Given the description of an element on the screen output the (x, y) to click on. 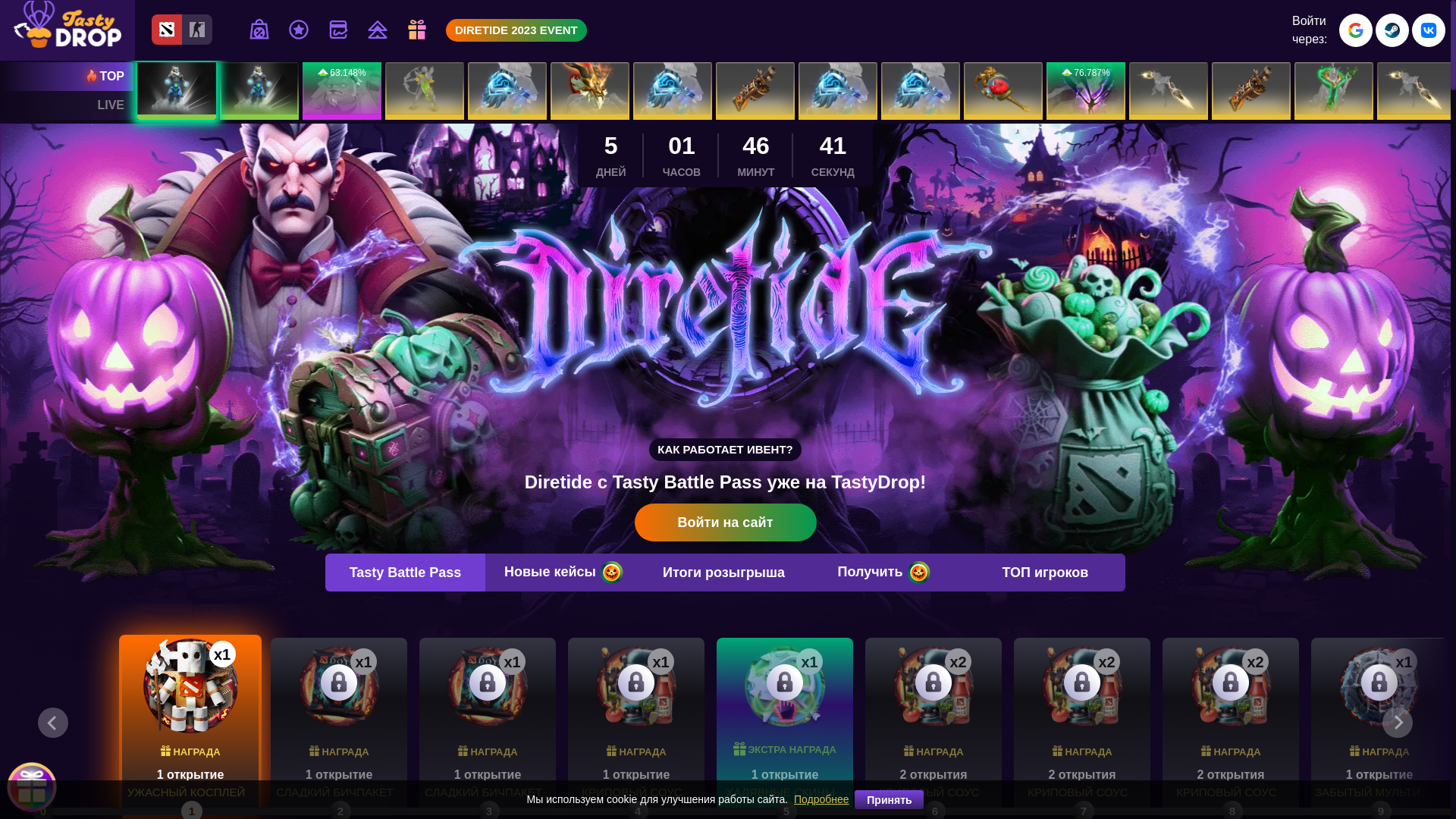
DIRETIDE 2023 EVENT Element type: text (515, 29)
LIVE Element type: text (66, 105)
TOP Element type: text (66, 76)
63.148
% Element type: text (341, 90)
76.787
% Element type: text (1085, 90)
Tasty Battle Pass Element type: text (405, 572)
